Given the description of an element on the screen output the (x, y) to click on. 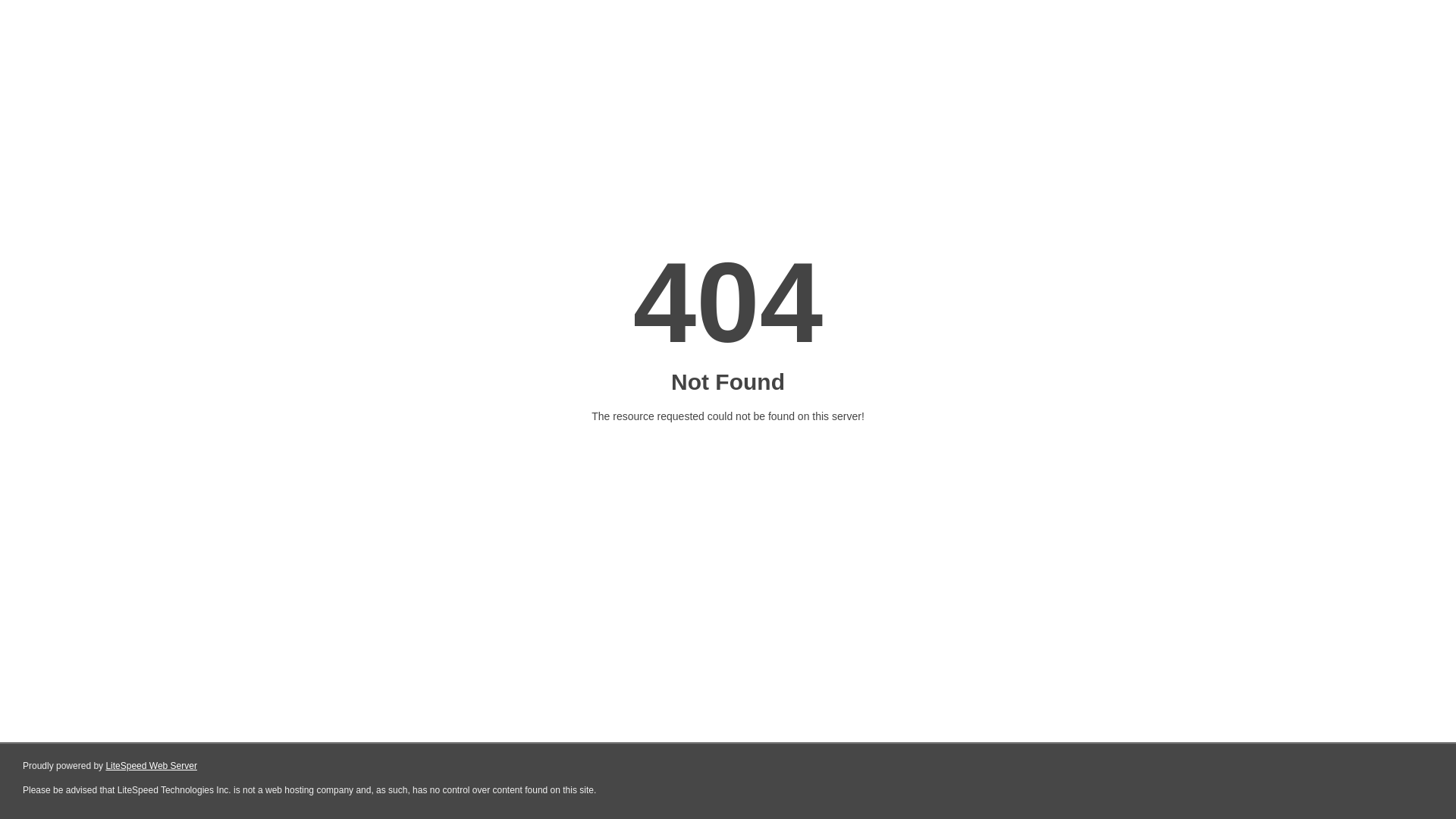
LiteSpeed Web Server Element type: text (151, 765)
